Given the description of an element on the screen output the (x, y) to click on. 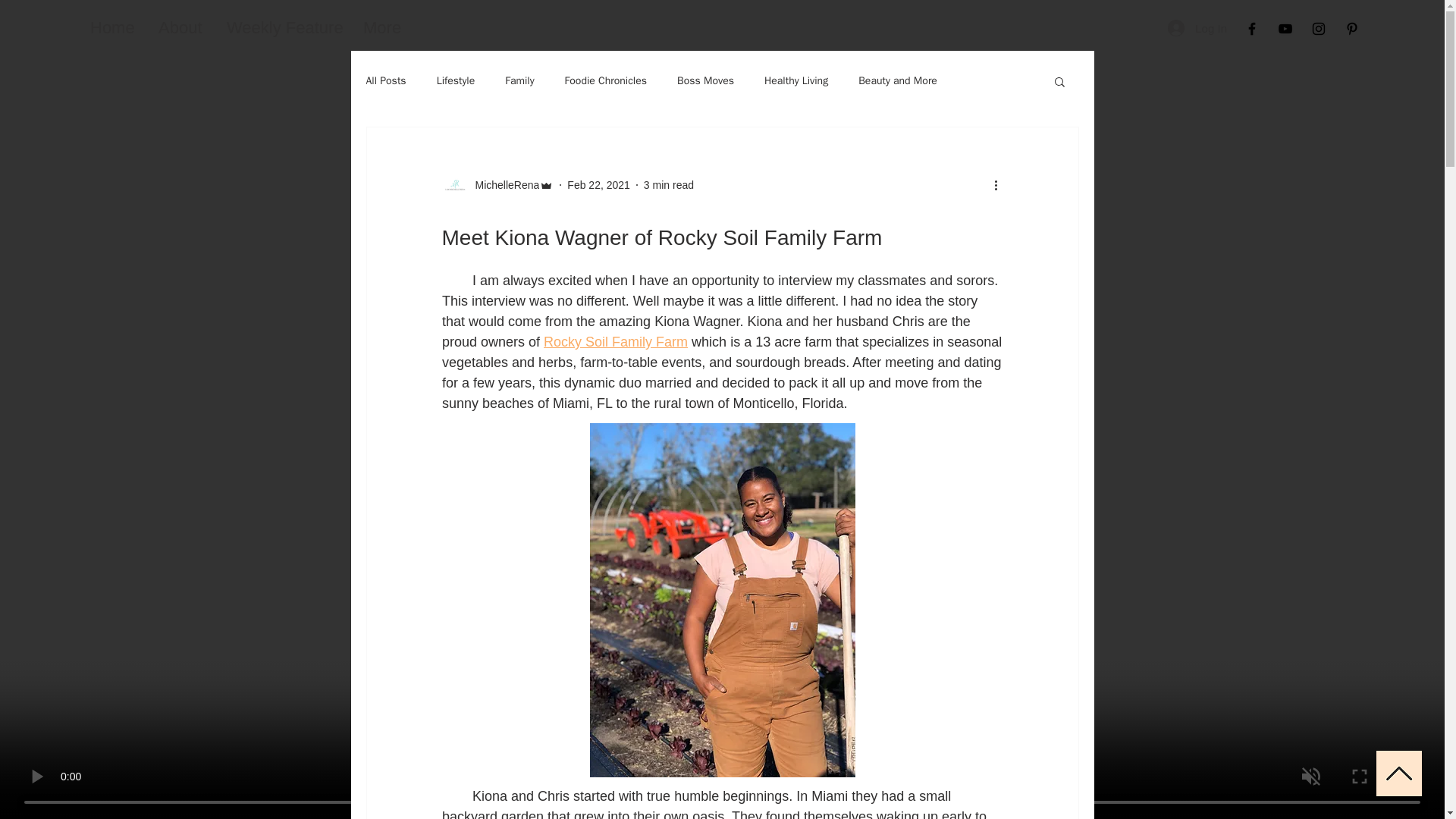
About (181, 27)
3 min read (668, 184)
All Posts (385, 80)
MichelleRena (501, 185)
Home (112, 27)
Feb 22, 2021 (598, 184)
Beauty and More (898, 80)
Weekly Feature (283, 27)
Foodie Chronicles (605, 80)
Lifestyle (456, 80)
Boss Moves (705, 80)
Healthy Living (796, 80)
Family (519, 80)
Log In (1197, 27)
